Given the description of an element on the screen output the (x, y) to click on. 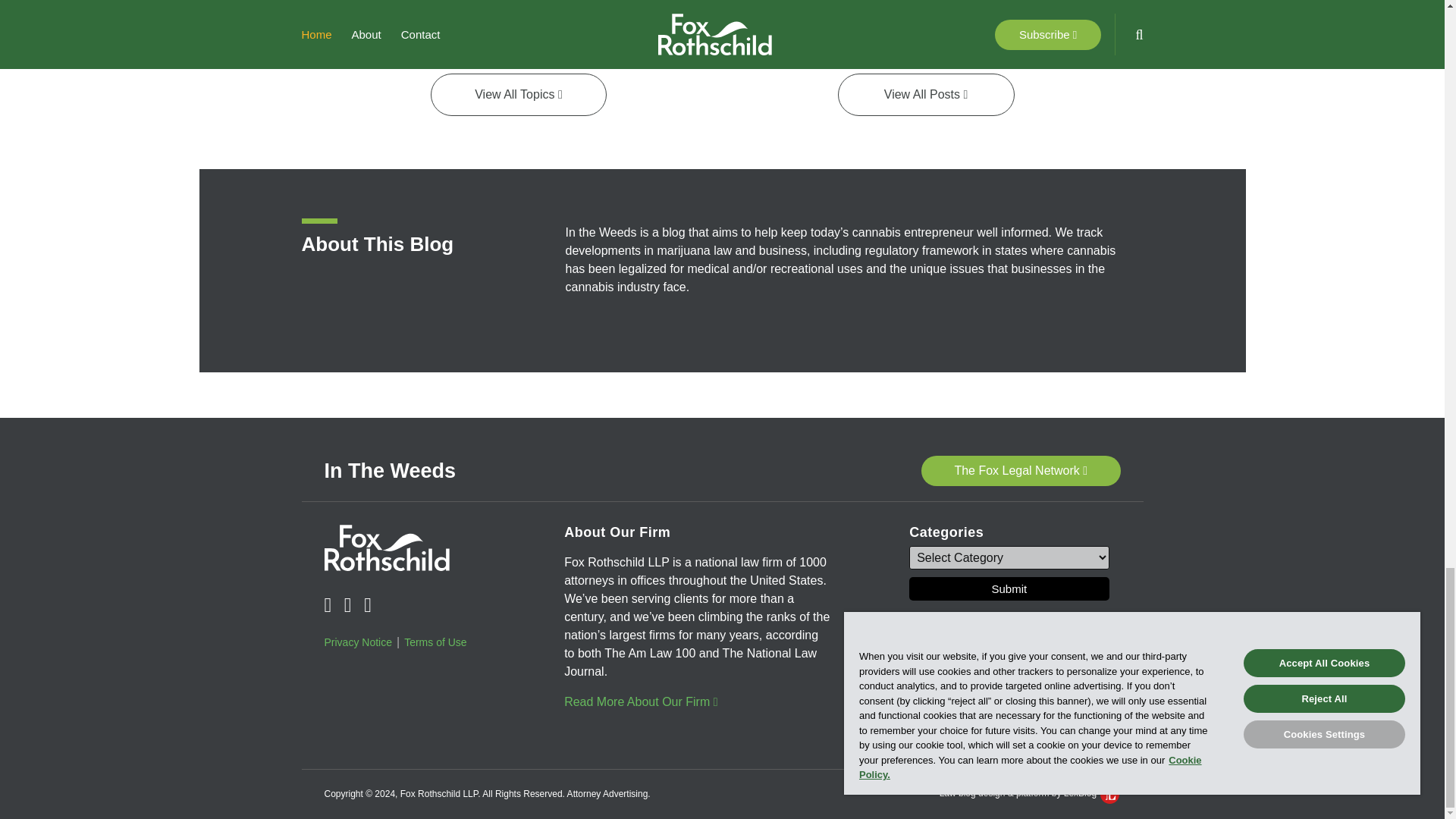
Submit (1008, 588)
Submit (1013, 679)
LexBlog Logo (1109, 793)
